Given the description of an element on the screen output the (x, y) to click on. 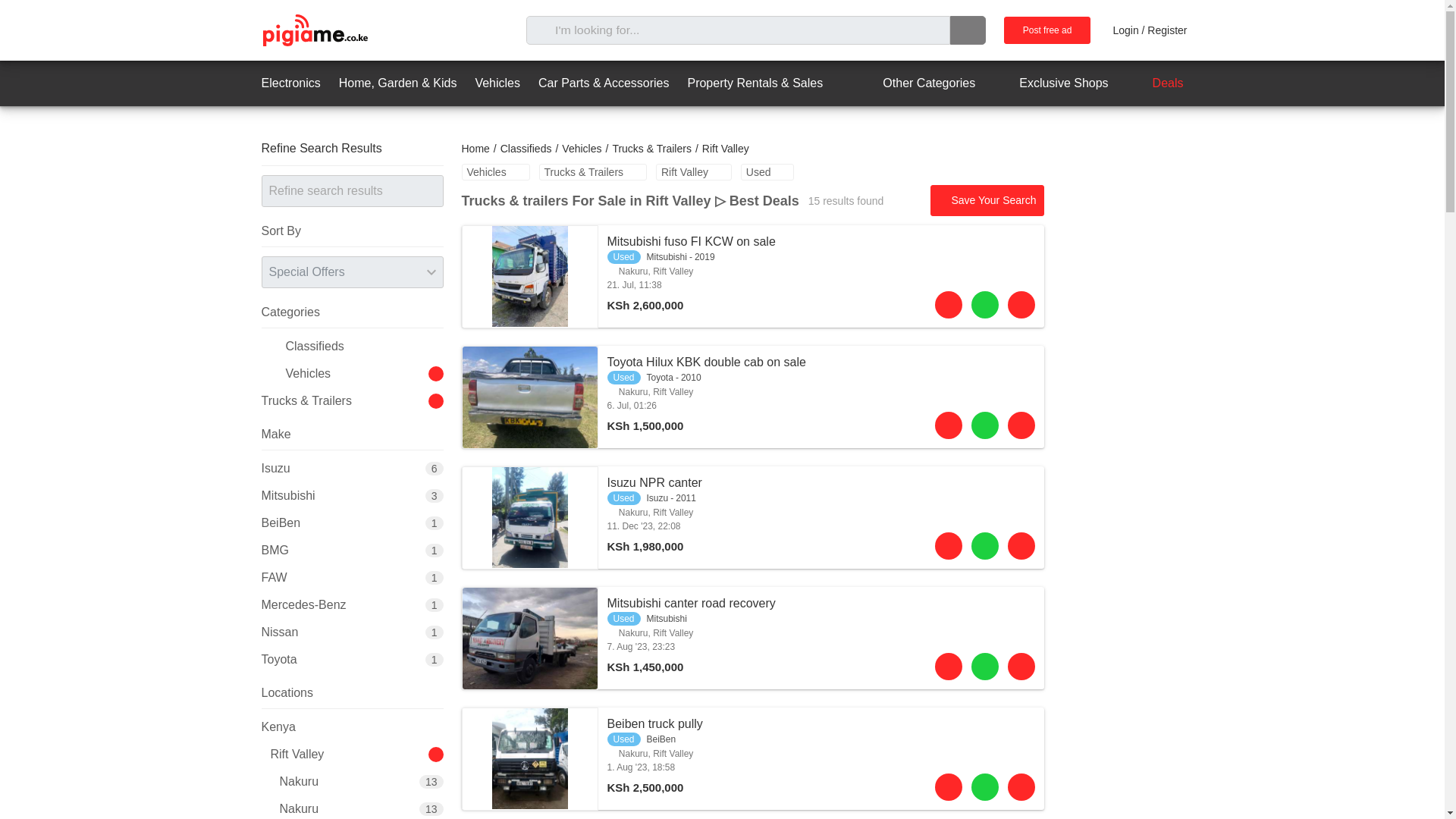
Vehicles (497, 83)
Deals (1155, 83)
Rift Valley (694, 171)
Vehicles (581, 148)
Electronics (290, 83)
Other Categories (915, 83)
Classifieds (525, 148)
Exclusive Shops (1050, 83)
